Given the description of an element on the screen output the (x, y) to click on. 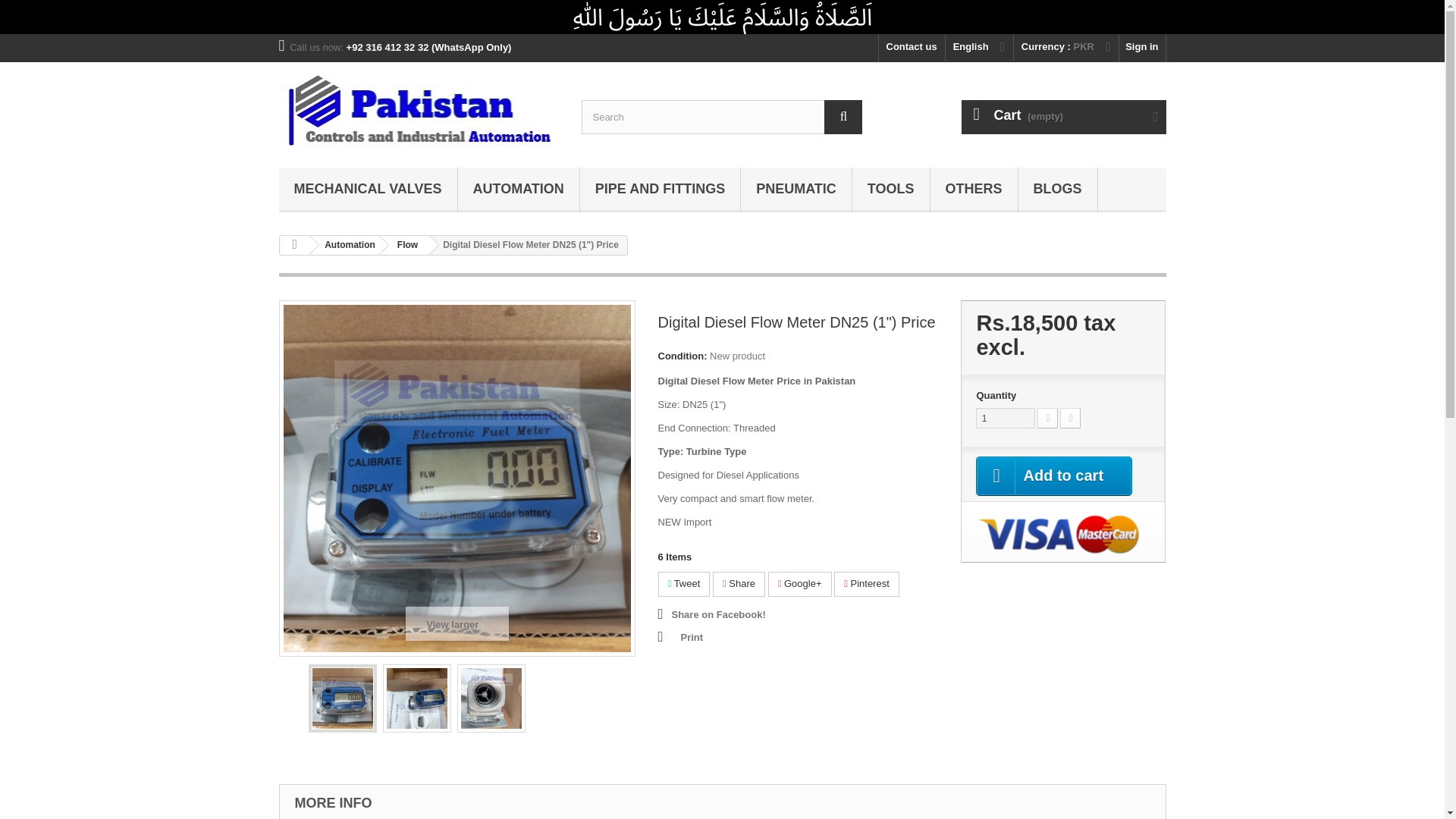
Sign in (1141, 48)
PNEUMATIC (796, 189)
AUTOMATION (518, 189)
OTHERS (973, 189)
1 (1005, 417)
Pakistan Controls and Industrial Automation (419, 110)
Contact us (911, 48)
Flow (404, 244)
View my shopping cart (1063, 116)
Automation (518, 189)
